Given the description of an element on the screen output the (x, y) to click on. 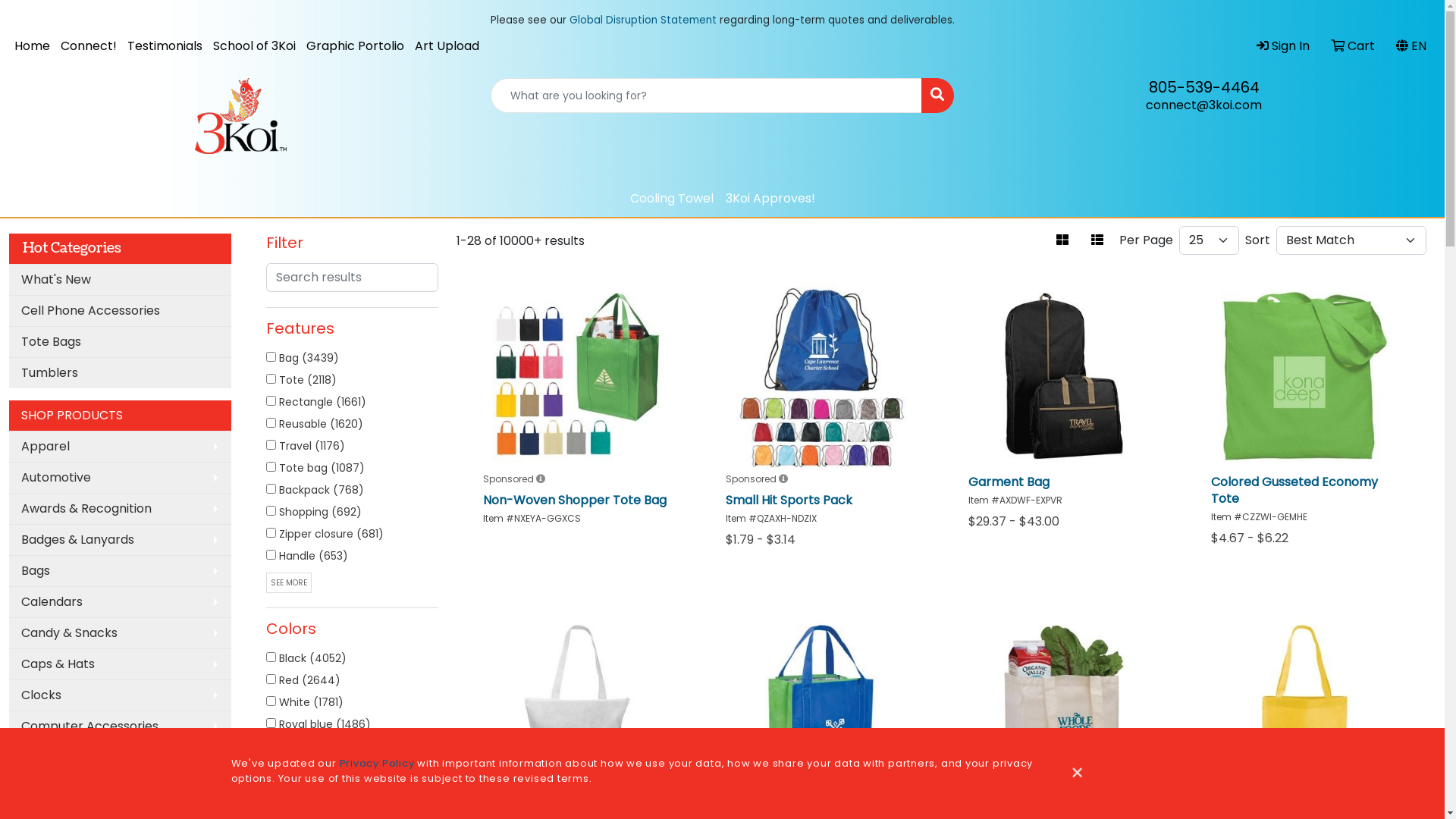
Desk Items Element type: text (120, 756)
Calendars Element type: text (120, 601)
Art Upload Element type: text (446, 45)
connect@3koi.com Element type: text (1203, 104)
Sign In Element type: text (1282, 45)
Awards & Recognition Element type: text (120, 508)
Cart Element type: text (1352, 45)
Caps & Hats Element type: text (120, 663)
Bags Element type: text (120, 570)
Connect! Element type: text (88, 45)
What's New Element type: text (120, 278)
Cooling Towel Element type: text (670, 198)
Cell Phone Accessories Element type: text (120, 310)
Global Disruption Statement Element type: text (641, 19)
Eco Friendly Element type: text (120, 787)
Clocks Element type: text (120, 694)
Home Element type: text (32, 45)
Computer Accessories Element type: text (120, 725)
Apparel Element type: text (120, 445)
3Koi Approves! Element type: text (769, 198)
EN Element type: text (1410, 45)
Graphic Portolio Element type: text (355, 45)
School of 3Koi Element type: text (254, 45)
Testimonials Element type: text (164, 45)
805-539-4464 Element type: text (1203, 86)
Badges & Lanyards Element type: text (120, 539)
Automotive Element type: text (120, 476)
Tumblers Element type: text (120, 372)
Candy & Snacks Element type: text (120, 632)
Privacy Policy Element type: text (376, 763)
Tote Bags Element type: text (120, 341)
